Given the description of an element on the screen output the (x, y) to click on. 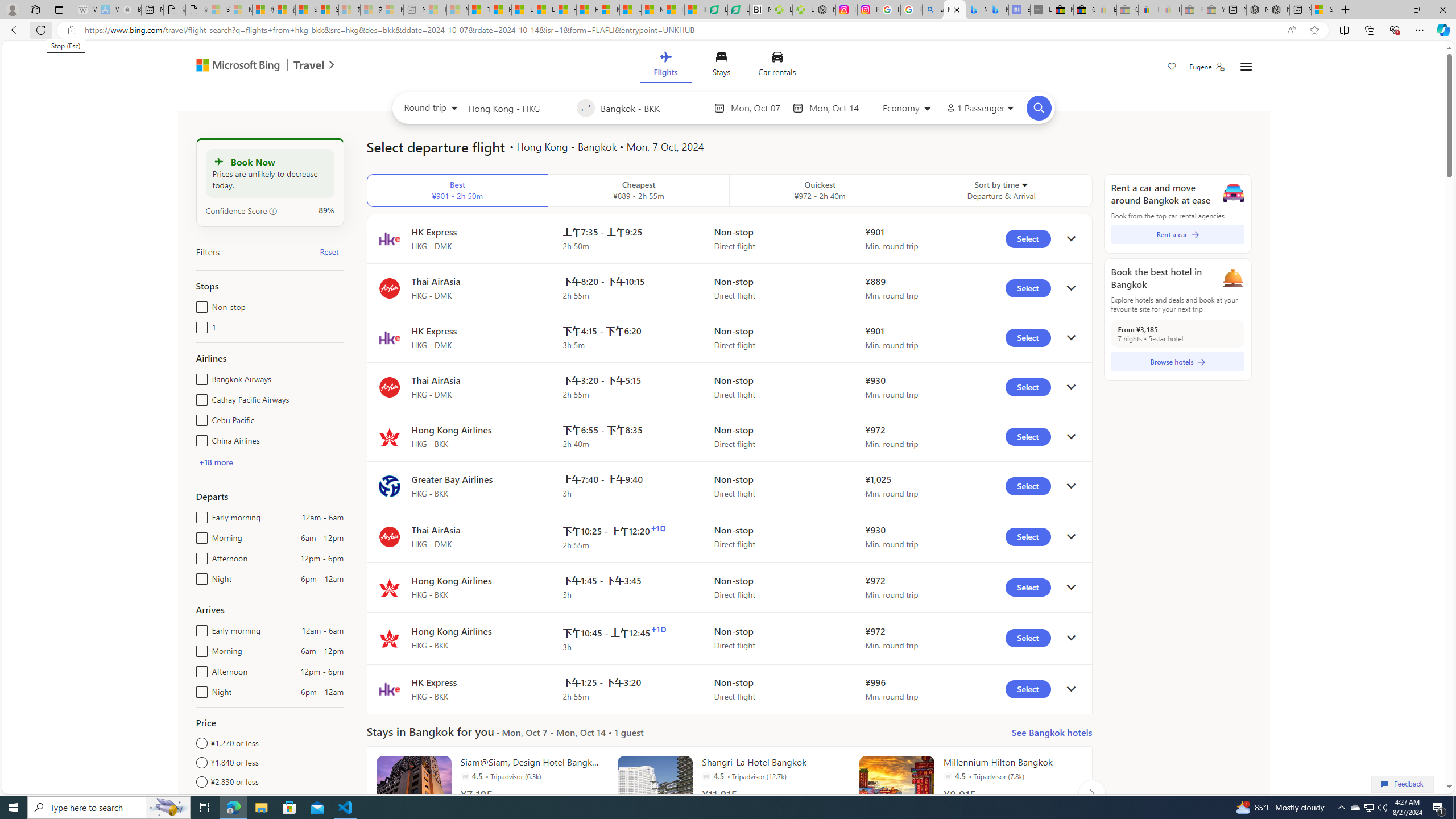
Reset (328, 251)
Cebu Pacific (199, 417)
1 Passenger (979, 108)
Cathay Pacific Airways (199, 397)
Press Room - eBay Inc. - Sleeping (1192, 9)
Class: msft-bing-logo msft-bing-logo-desktop (234, 64)
